Given the description of an element on the screen output the (x, y) to click on. 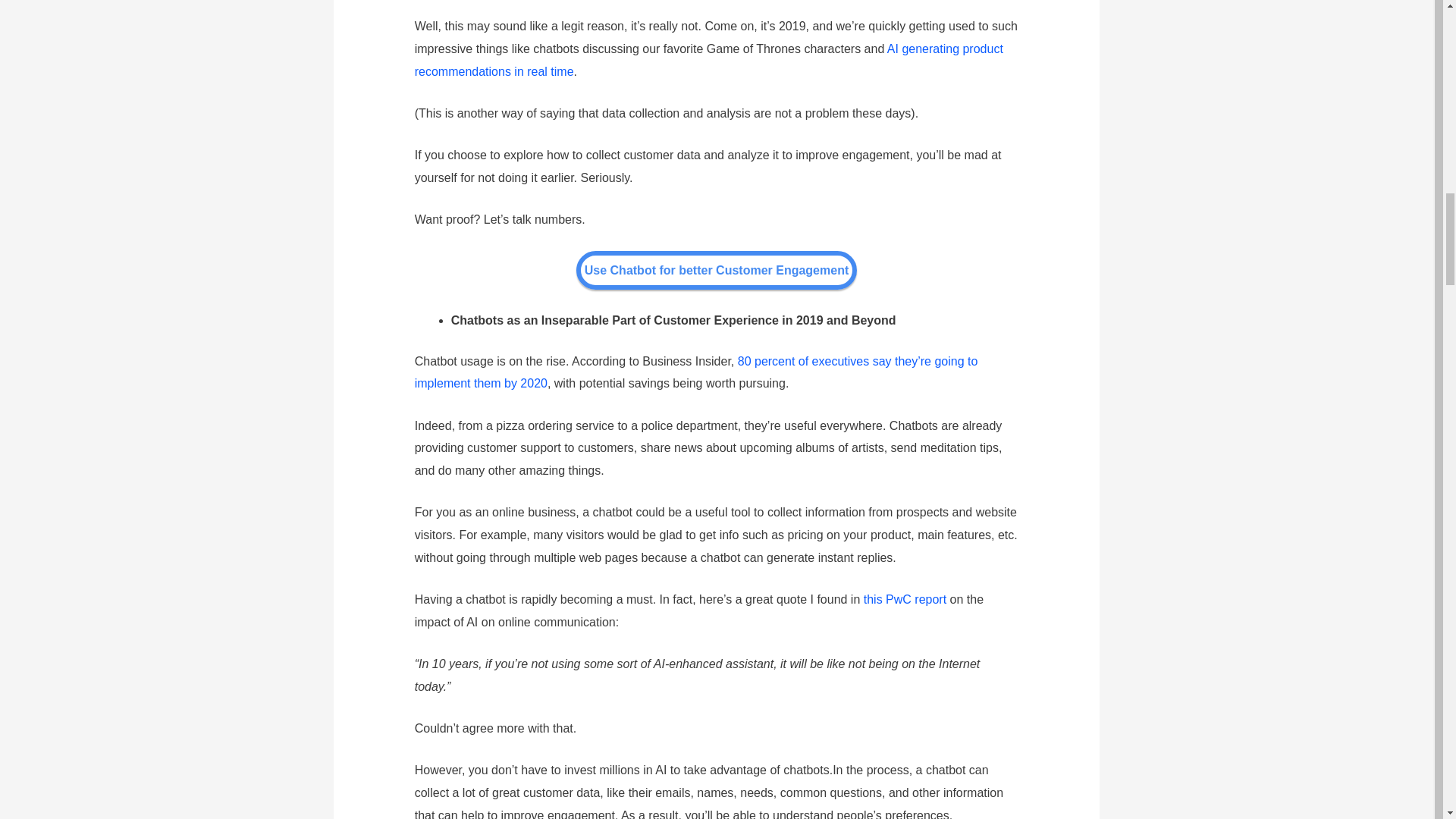
Use Chatbot for better Customer Engagement (716, 270)
this PwC report (904, 599)
AI generating product recommendations in real time (708, 59)
